Given the description of an element on the screen output the (x, y) to click on. 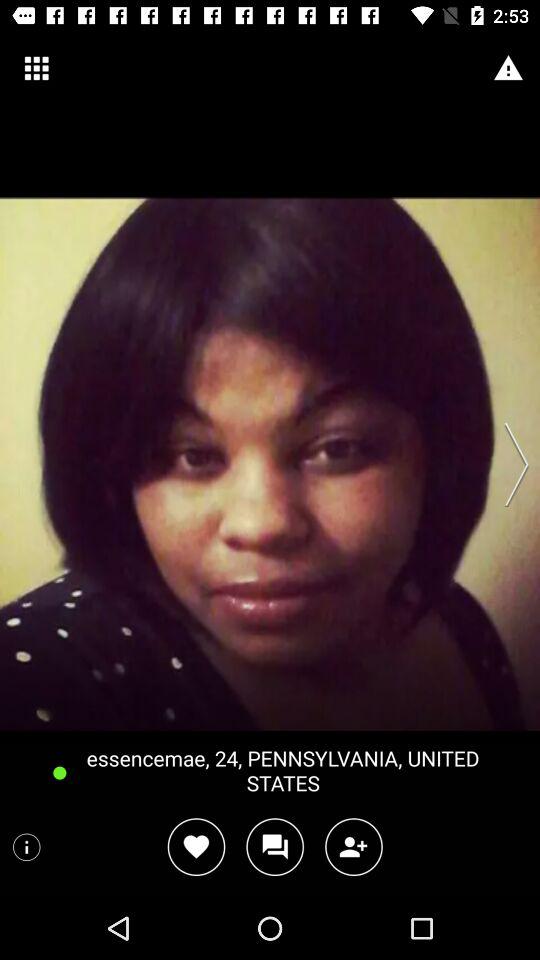
choose icon below the essencemae 24 pennsylvania item (274, 846)
